Given the description of an element on the screen output the (x, y) to click on. 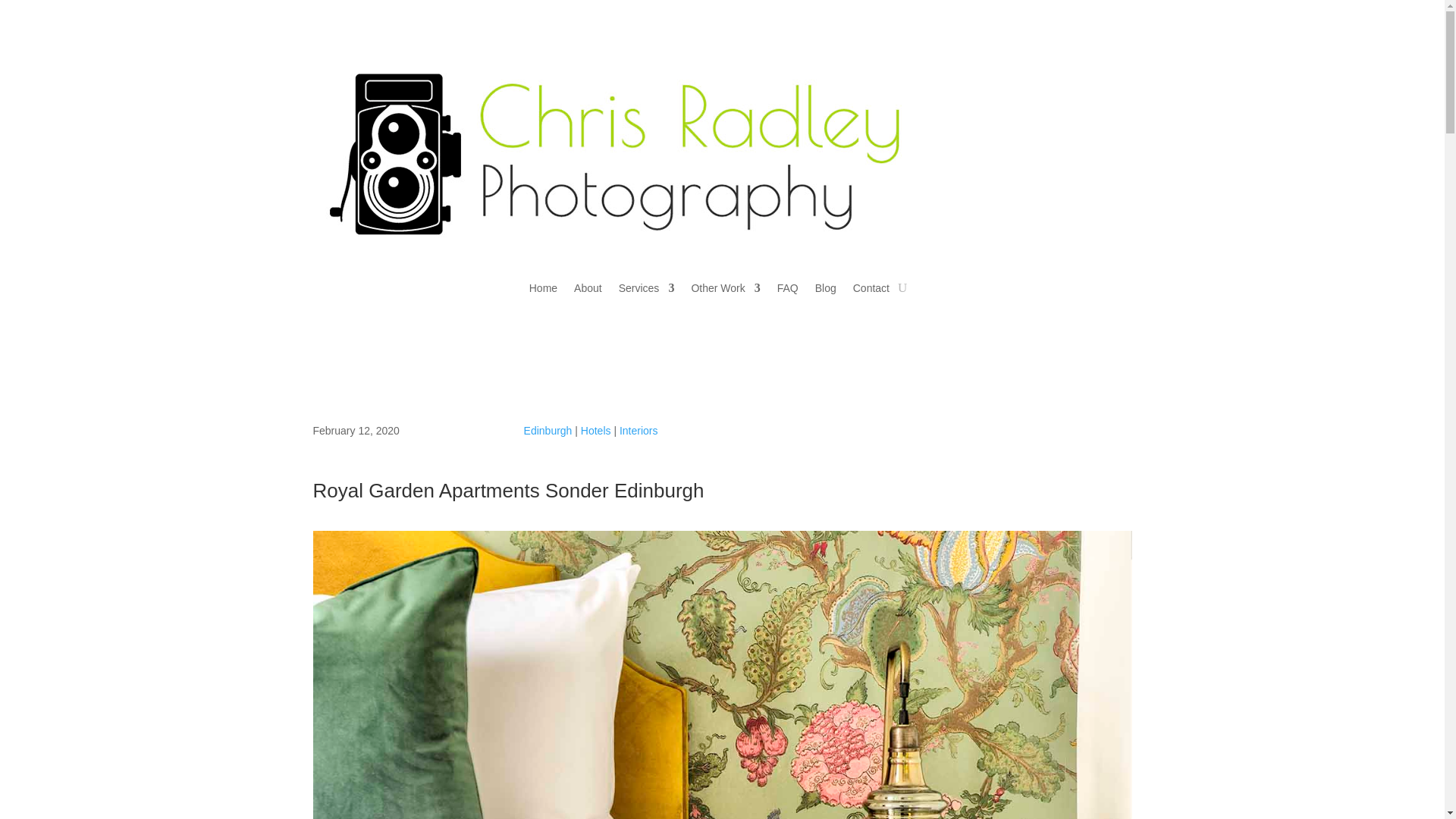
Blog (825, 290)
Services (646, 290)
Hotels (595, 430)
Home (543, 290)
About (587, 290)
FAQ (787, 290)
Edinburgh (548, 430)
Other Work (725, 290)
Interiors (639, 430)
Contact (871, 290)
chris new logo (615, 157)
